Given the description of an element on the screen output the (x, y) to click on. 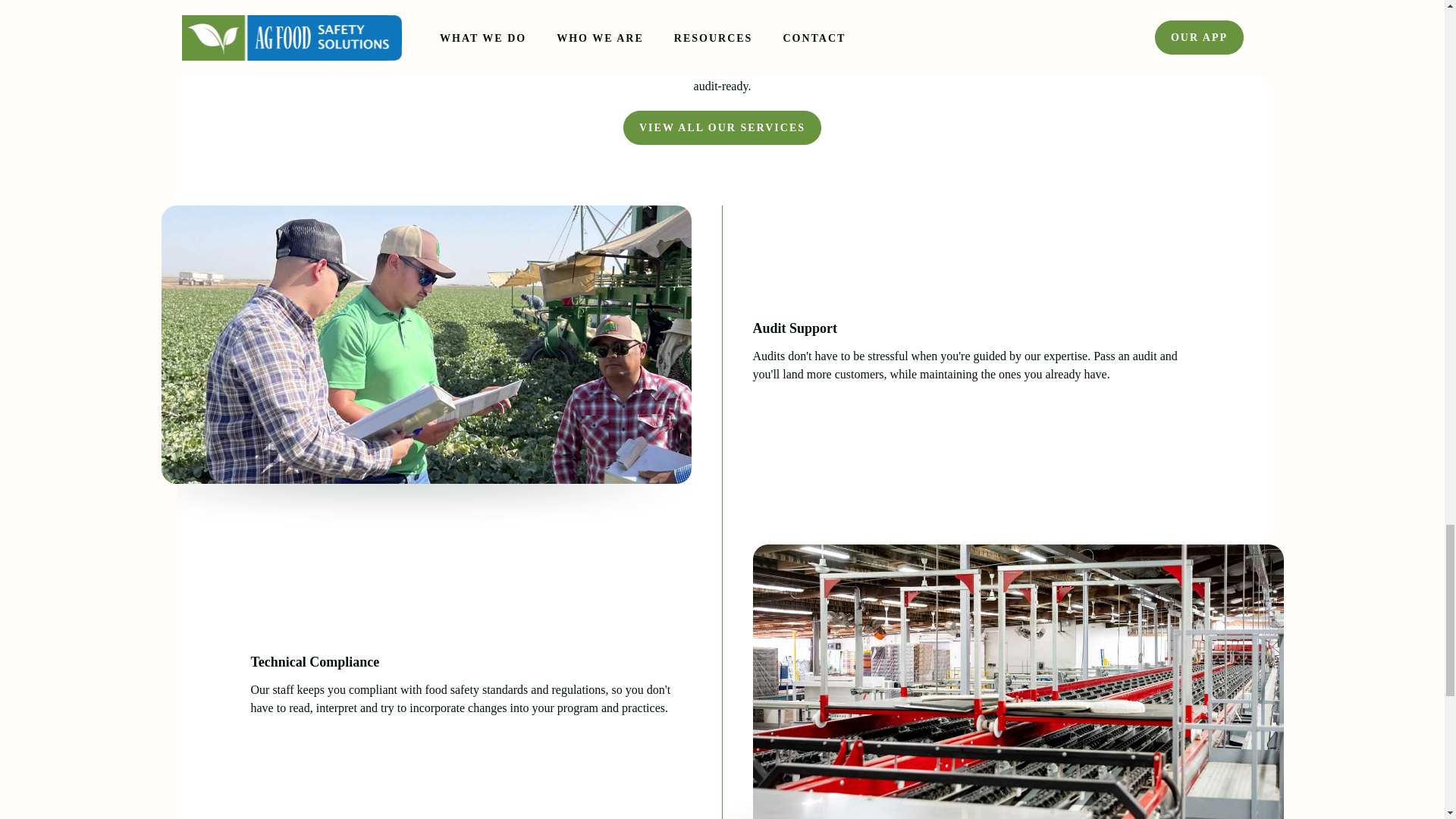
VIEW ALL OUR SERVICES (722, 127)
